Given the description of an element on the screen output the (x, y) to click on. 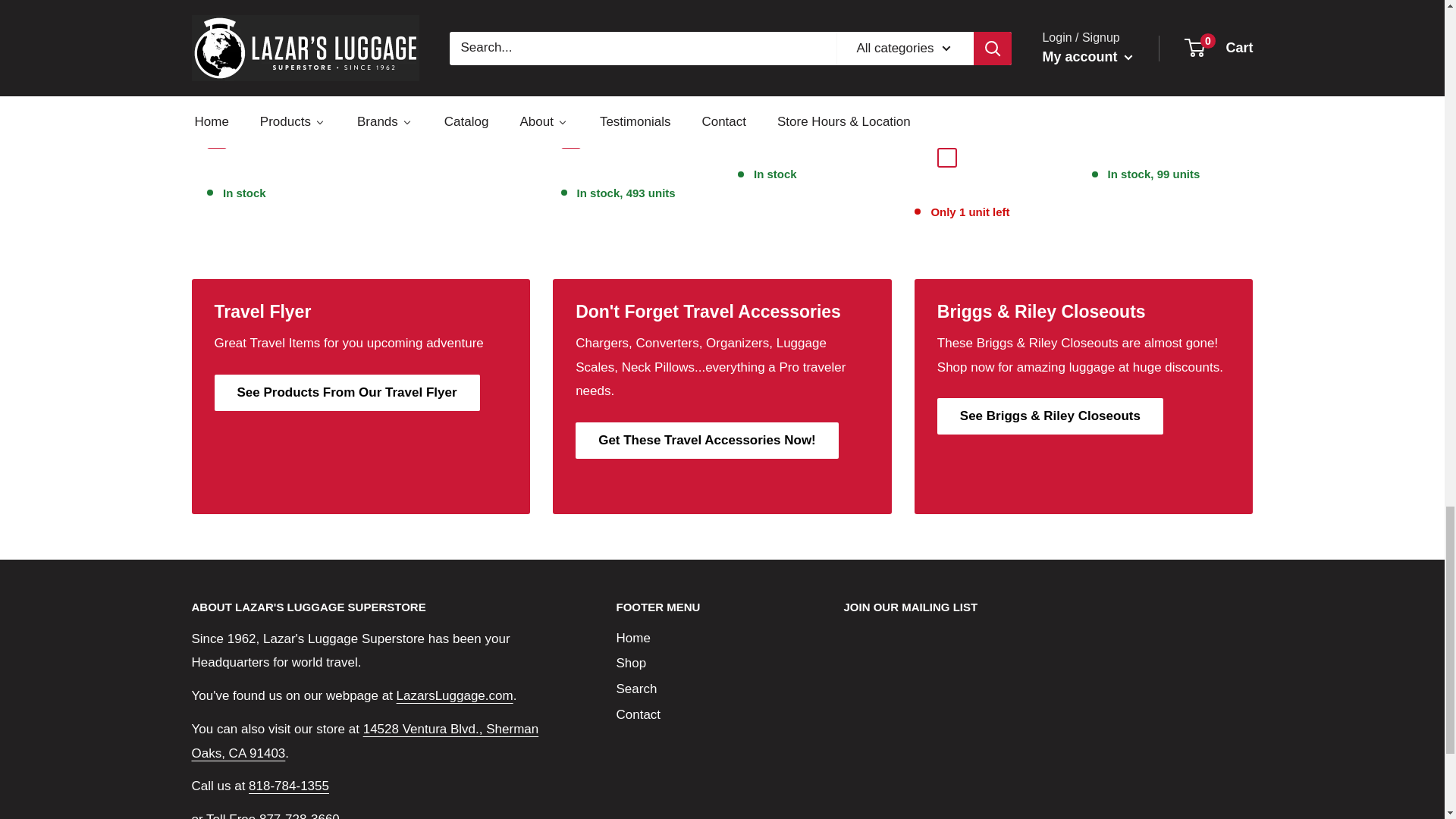
Red (1101, 119)
Orange (1168, 119)
Tan (746, 119)
Cognac 711-32 (946, 156)
Yellow (1123, 119)
Black 711-59 (924, 156)
Black (569, 137)
Green (1146, 119)
Beige (215, 137)
Brown (592, 137)
